Given the description of an element on the screen output the (x, y) to click on. 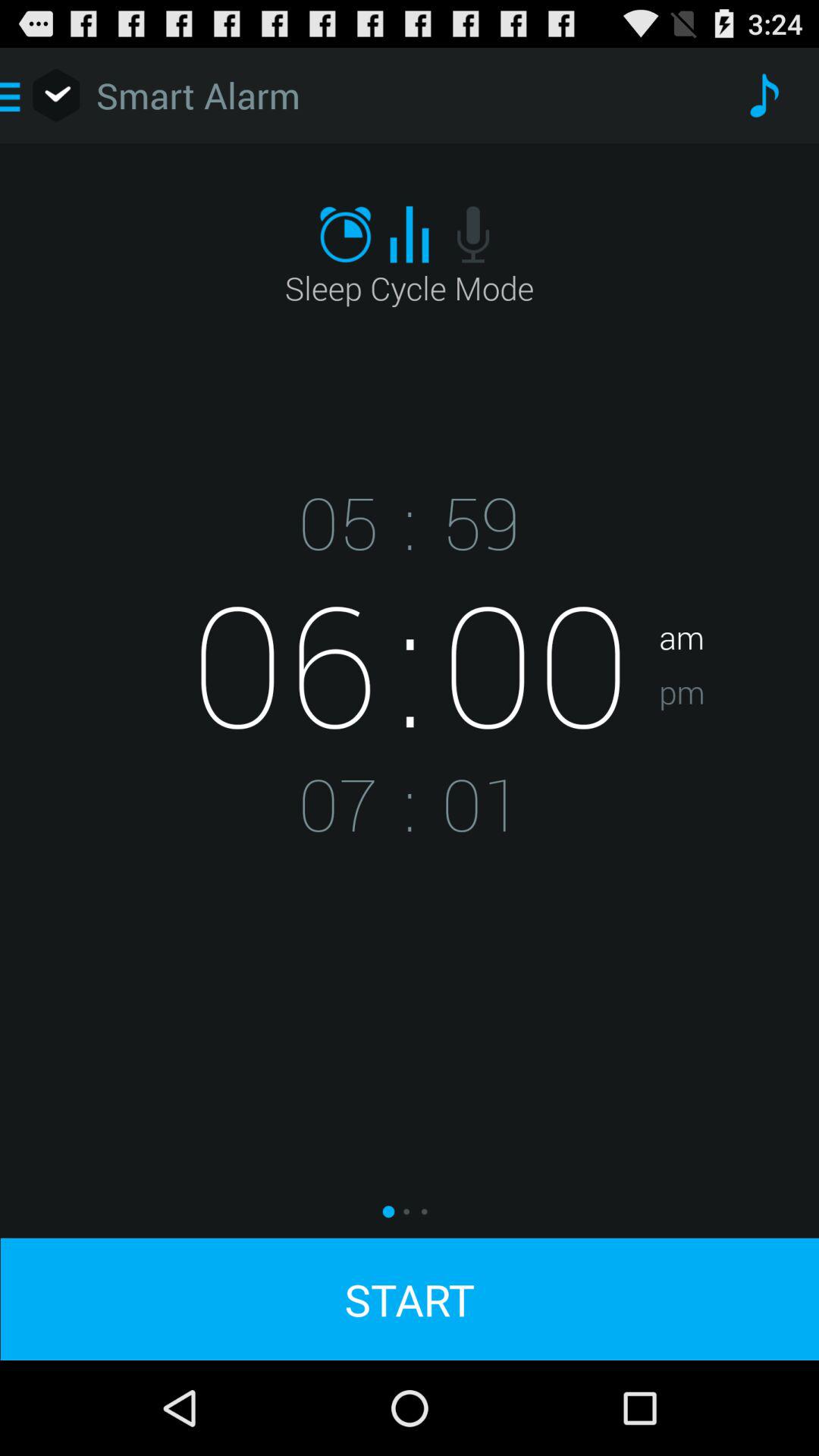
tap app to the right of the smart alarm app (763, 95)
